Given the description of an element on the screen output the (x, y) to click on. 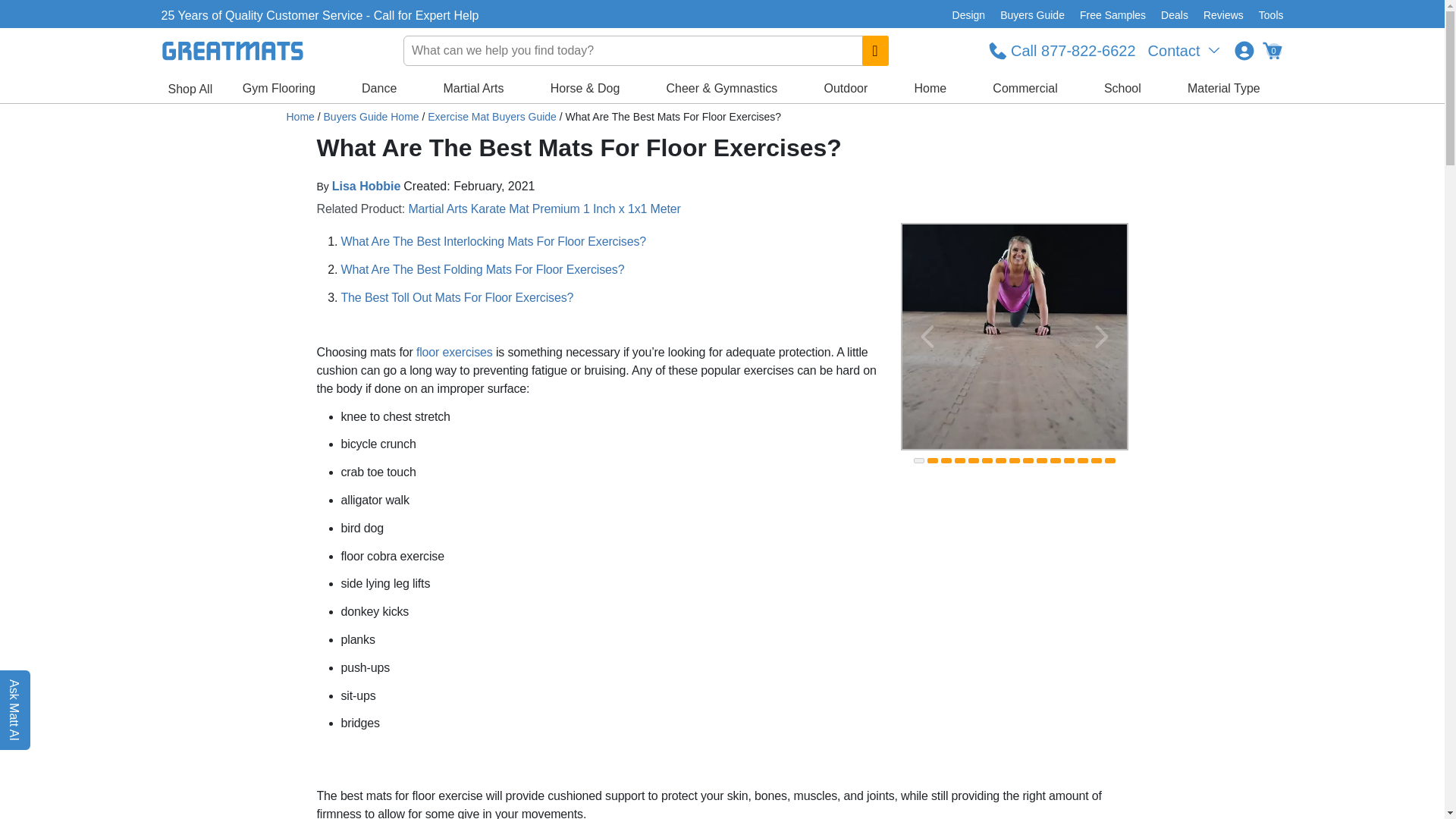
Shop All (189, 89)
Free Samples (1112, 15)
Deals (1174, 15)
Contact (1184, 50)
0 (1271, 50)
Buyers Guide (1031, 15)
Call 877-822-6622 (1061, 50)
Design (968, 15)
Greatmats (300, 116)
Tools (1267, 15)
